Given the description of an element on the screen output the (x, y) to click on. 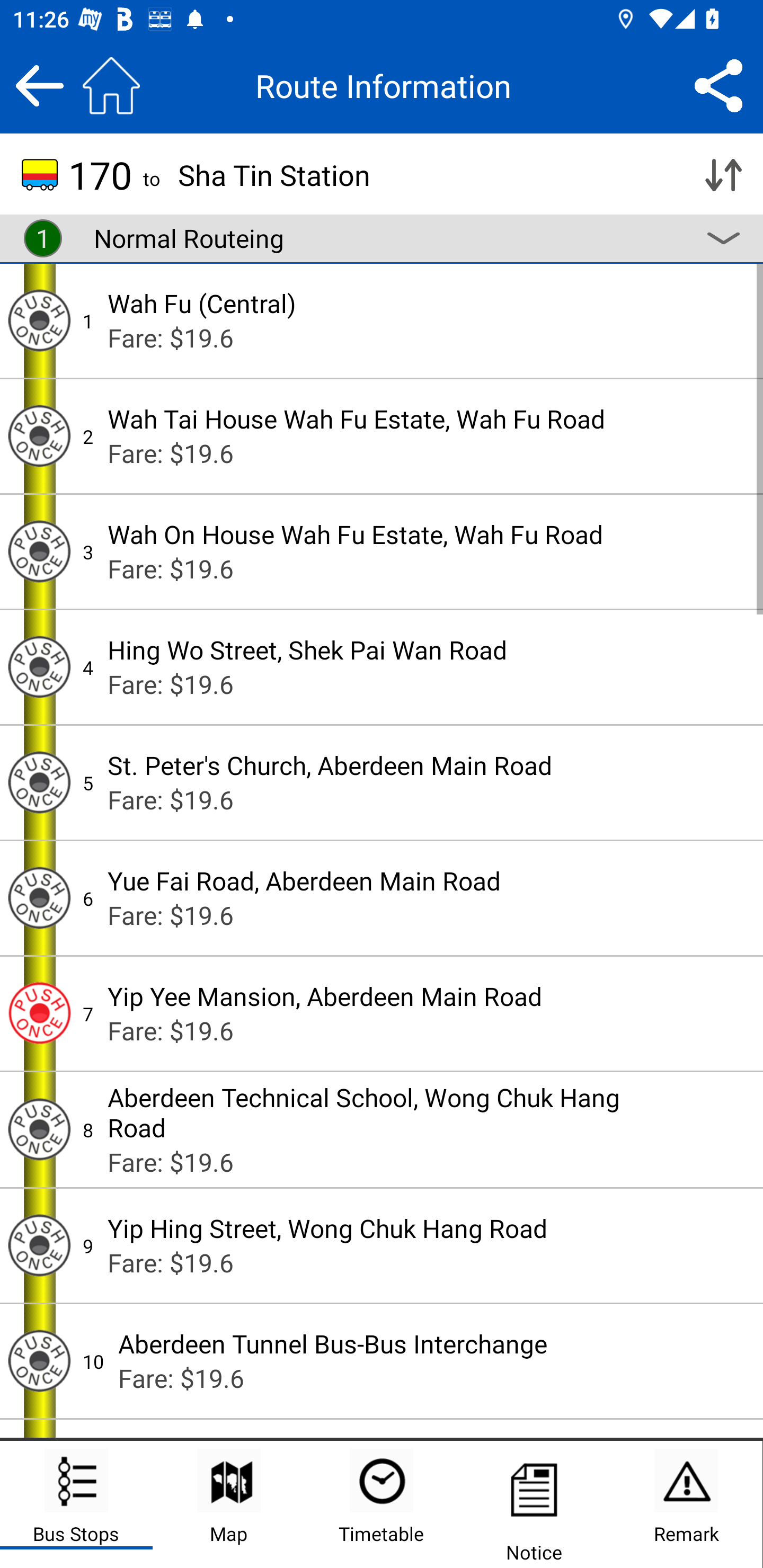
Jump to home page (111, 85)
Share point to point route search criteria) (718, 85)
Back (39, 85)
Reverse direction (723, 174)
Other routes (723, 238)
Alight Reminder (39, 320)
Alight Reminder (39, 435)
Alight Reminder (39, 551)
Alight Reminder (39, 667)
Alight Reminder (39, 782)
Alight Reminder (39, 897)
Alight Reminder (39, 1013)
Alight Reminder (39, 1129)
Alight Reminder (39, 1245)
Alight Reminder (39, 1360)
Bus Stops (76, 1504)
Map (228, 1504)
Timetable (381, 1504)
Notice (533, 1504)
Remark (686, 1504)
